Given the description of an element on the screen output the (x, y) to click on. 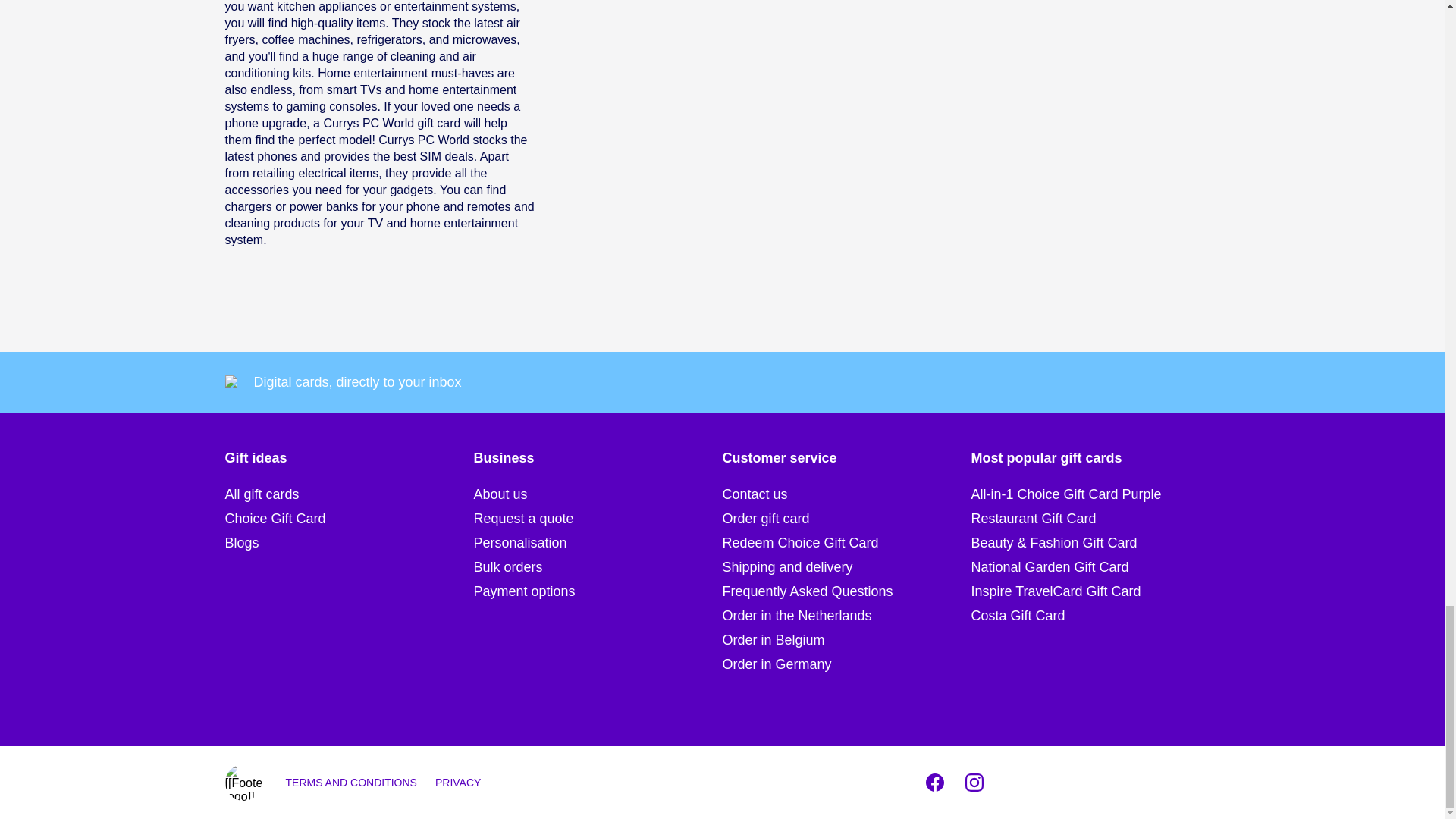
National Garden Gift Card (1095, 566)
Personalisation (597, 542)
Redeem Choice Gift Card (846, 542)
Inspire TravelCard Gift Card (1095, 591)
Choice Gift Card (348, 518)
Frequently Asked Questions (846, 591)
Order in Germany (846, 664)
Bulk orders (597, 566)
All gift cards (348, 494)
Order in Belgium (846, 639)
